Given the description of an element on the screen output the (x, y) to click on. 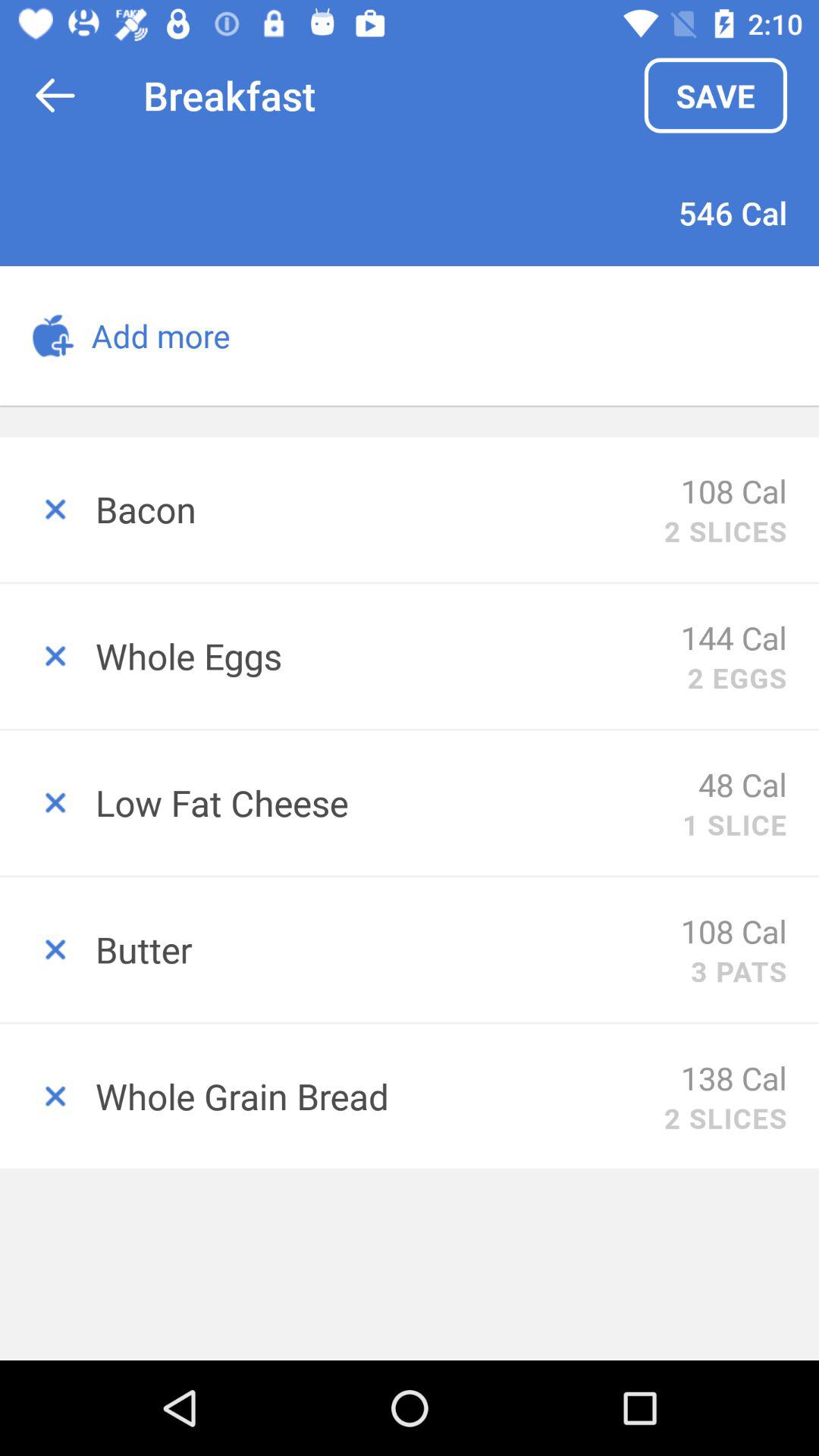
press icon next to the 1 slice item (388, 802)
